Given the description of an element on the screen output the (x, y) to click on. 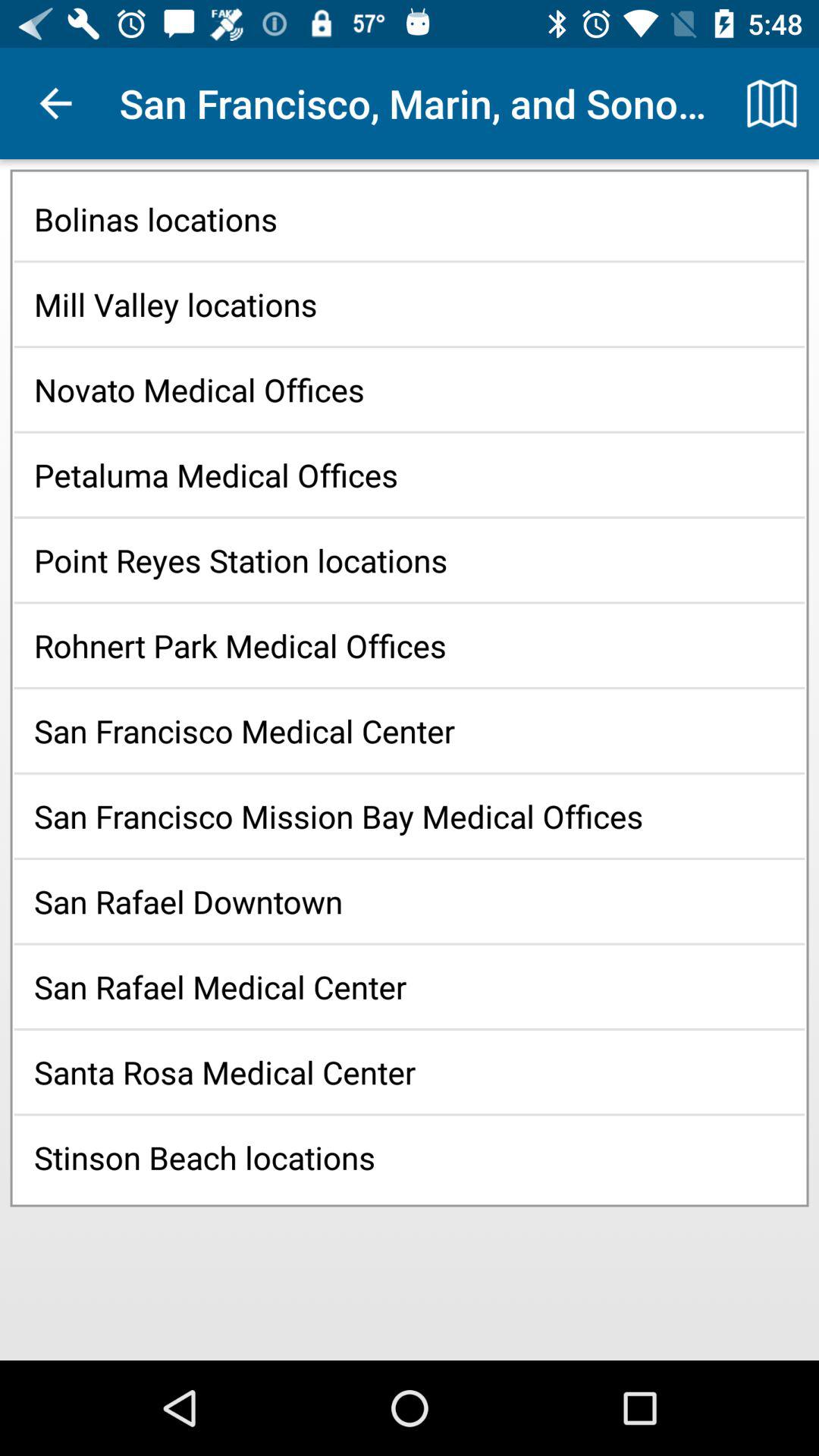
choose the icon above the san francisco medical item (409, 645)
